Given the description of an element on the screen output the (x, y) to click on. 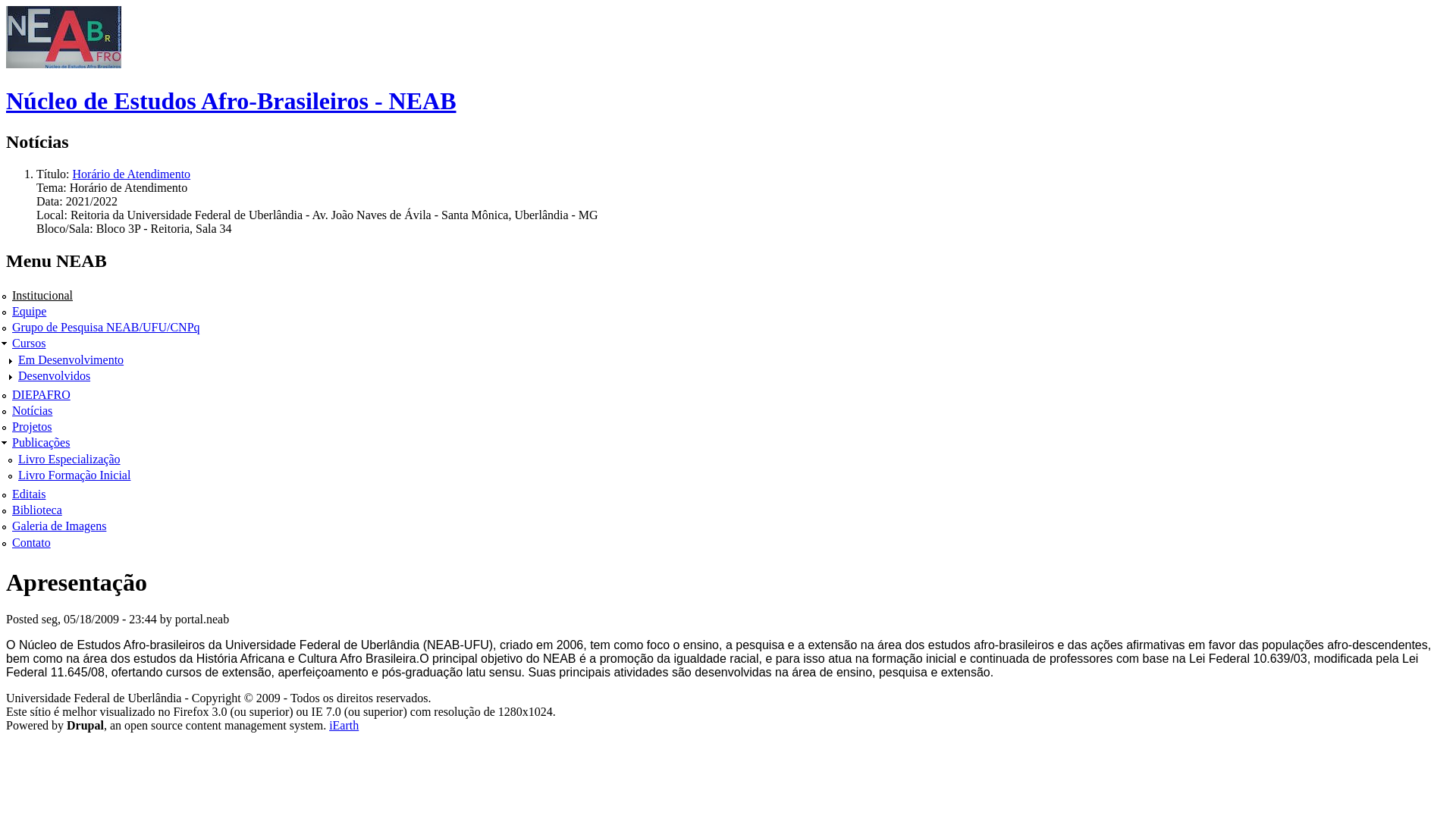
Contato Element type: text (31, 542)
Editais Element type: text (28, 493)
DIEPAFRO Element type: text (41, 394)
Projetos Element type: text (31, 426)
Equipe Element type: text (29, 310)
iEarth Element type: text (343, 724)
Institucional Element type: text (42, 294)
Grupo de Pesquisa NEAB/UFU/CNPq Element type: text (106, 326)
Galeria de Imagens Element type: text (59, 525)
Biblioteca Element type: text (37, 509)
Desenvolvidos Element type: text (54, 375)
Cursos Element type: text (28, 342)
Em Desenvolvimento Element type: text (70, 359)
